Given the description of an element on the screen output the (x, y) to click on. 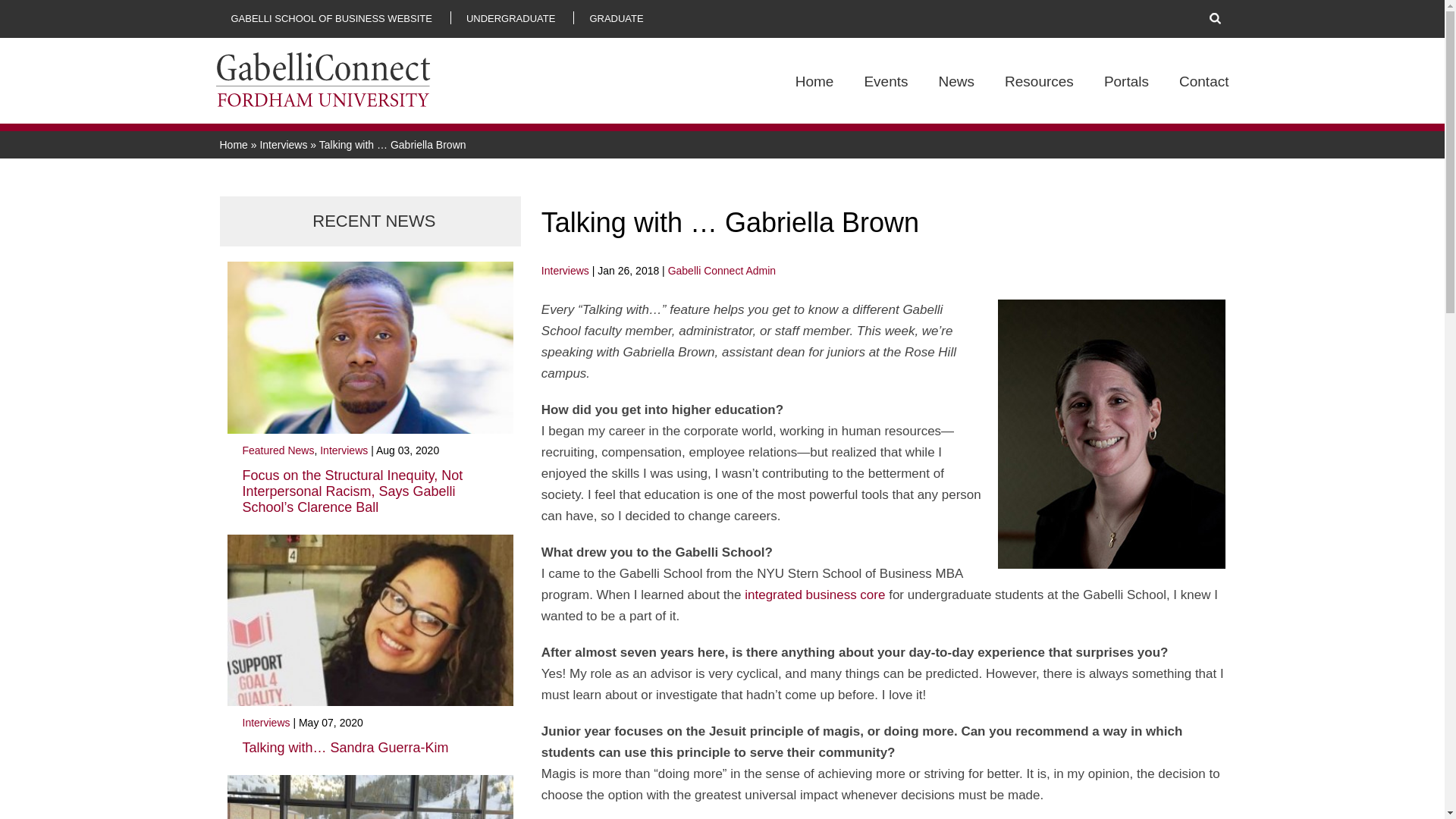
GABELLI SCHOOL OF BUSINESS WEBSITE (330, 18)
Interviews (565, 270)
UNDERGRADUATE (510, 18)
Posts by Gabelli Connect Admin (722, 270)
GRADUATE (615, 18)
Resources (1039, 97)
